Given the description of an element on the screen output the (x, y) to click on. 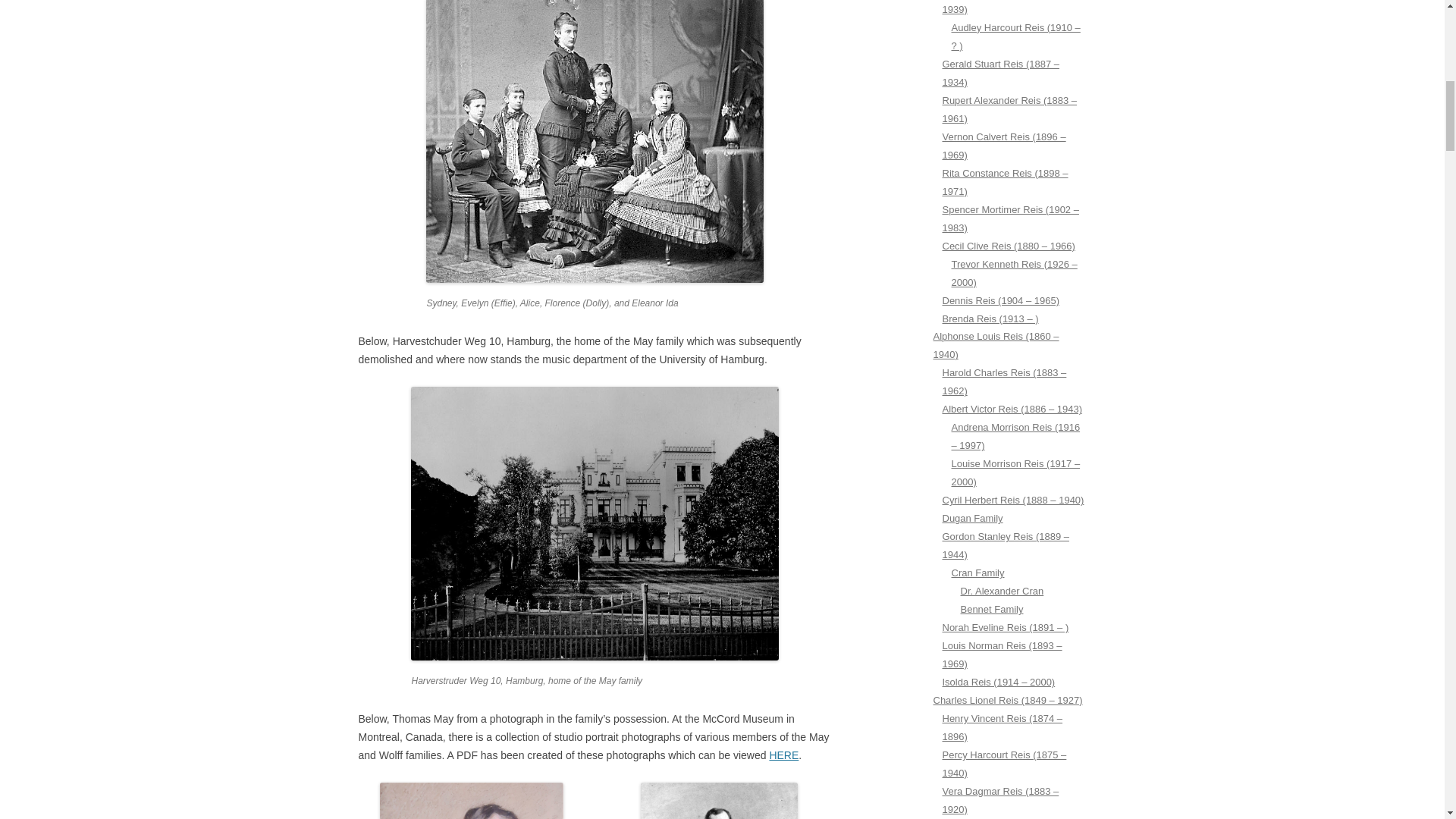
HERE (782, 755)
